Given the description of an element on the screen output the (x, y) to click on. 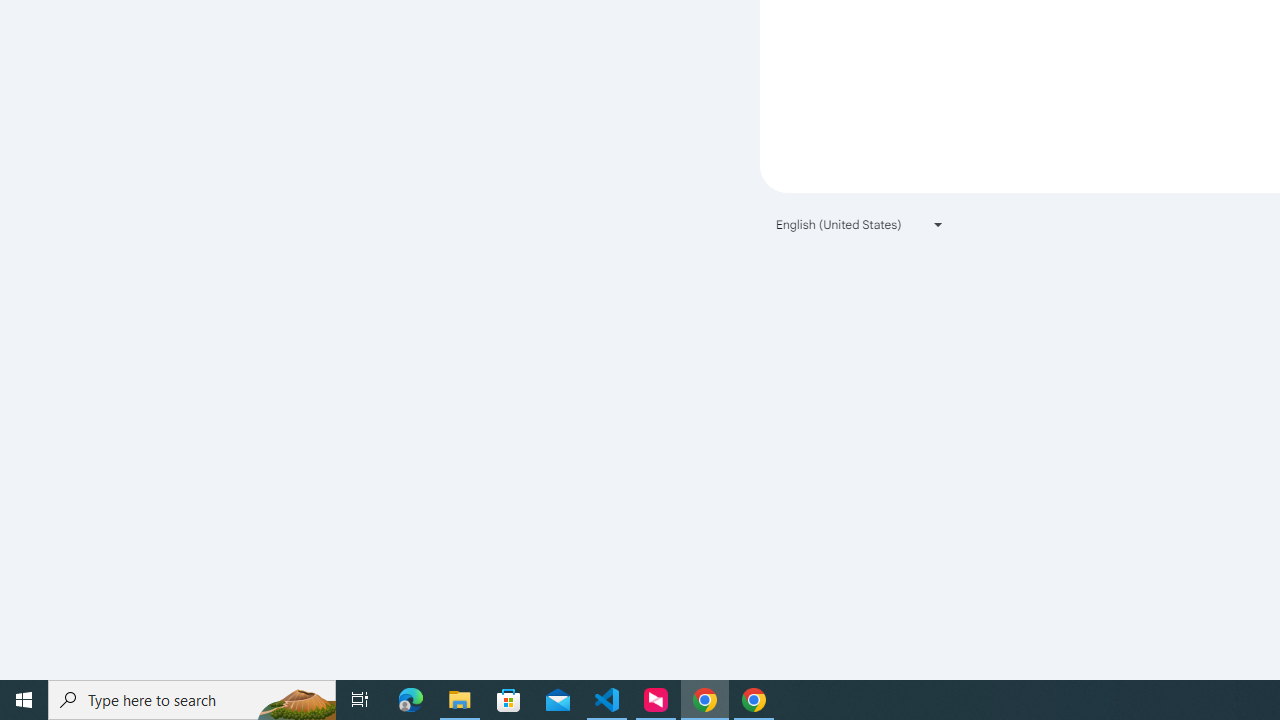
English (United States) (860, 224)
